Given the description of an element on the screen output the (x, y) to click on. 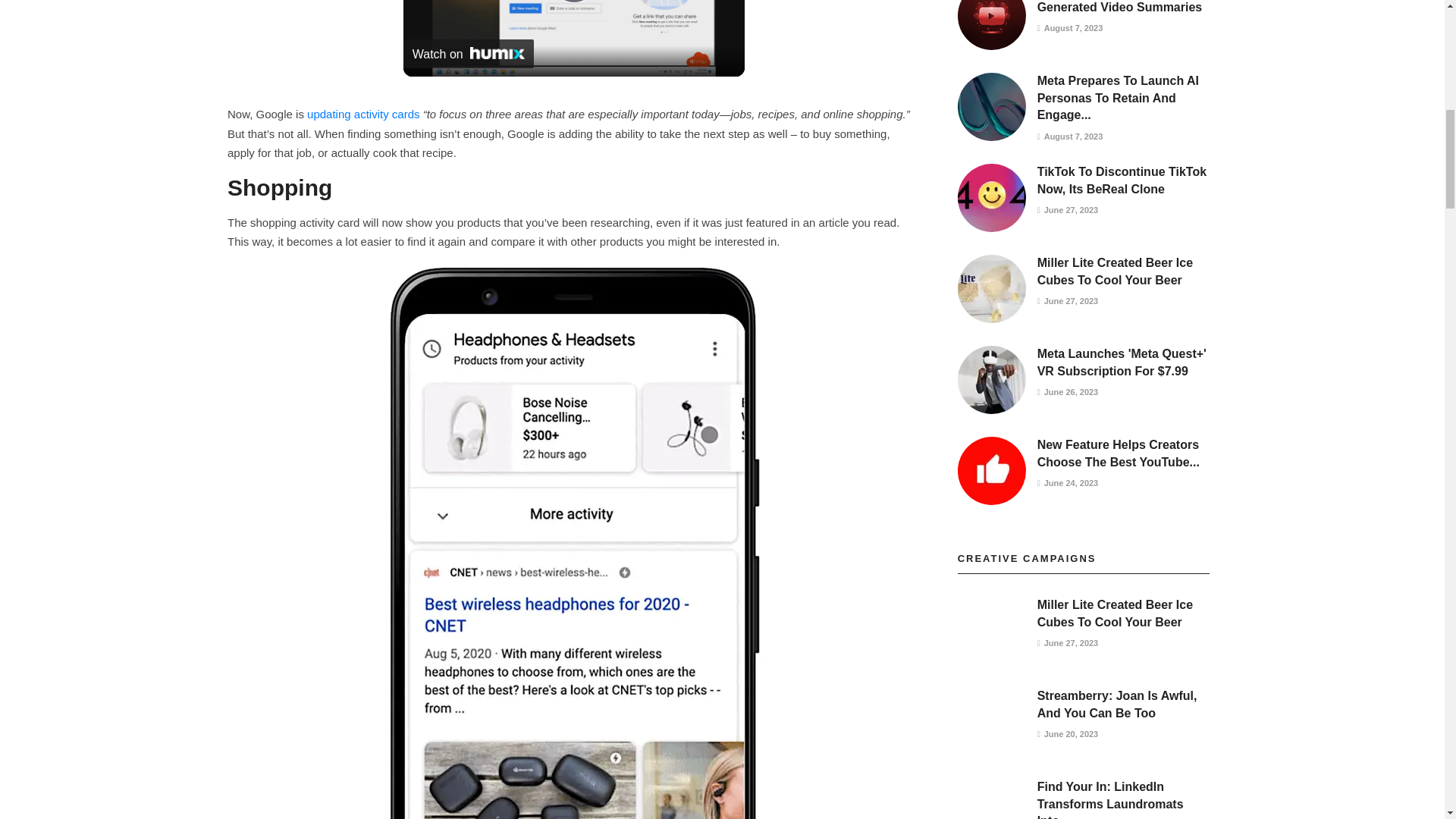
Play Video (573, 1)
